Given the description of an element on the screen output the (x, y) to click on. 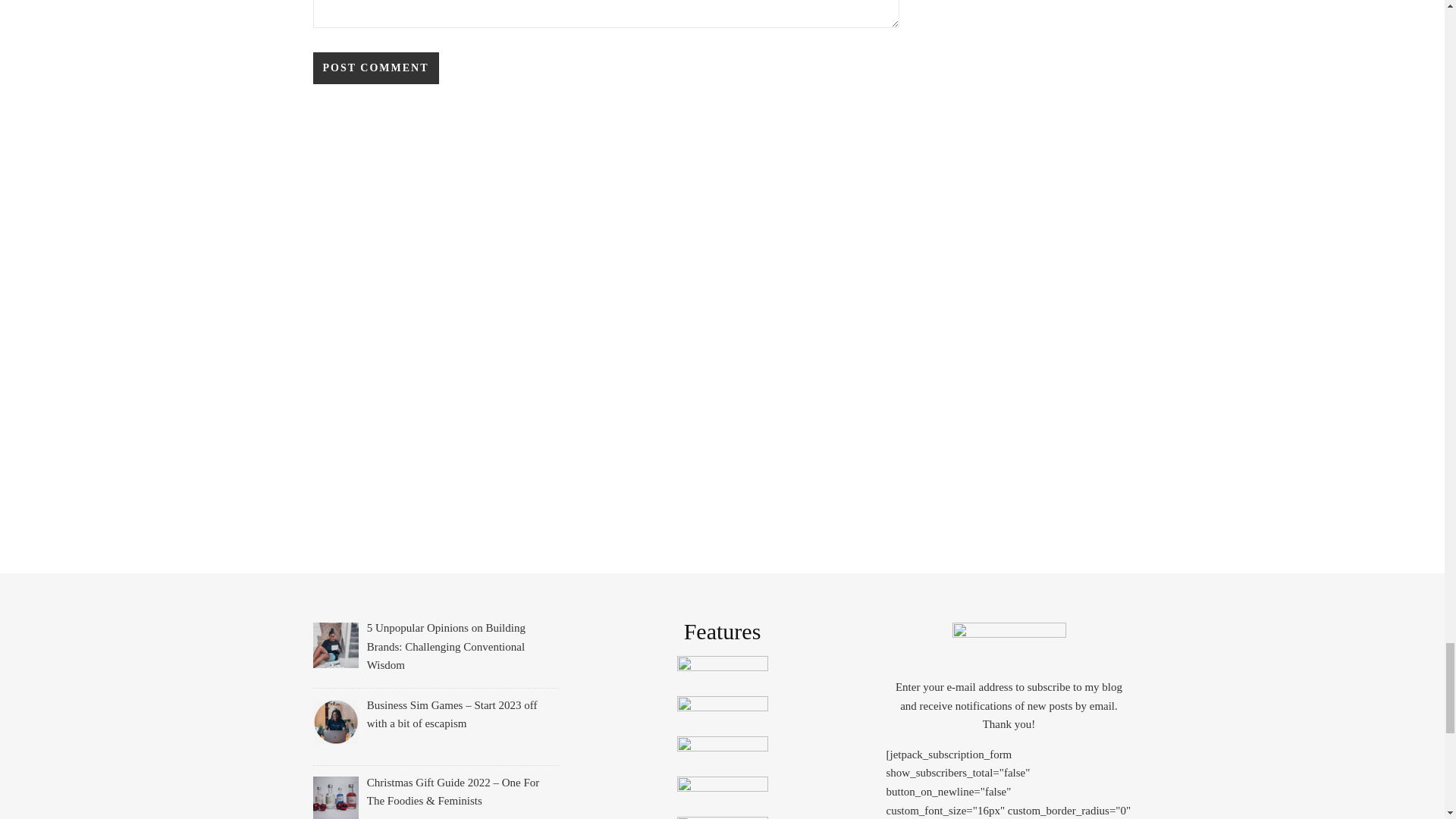
Post Comment (375, 68)
